Given the description of an element on the screen output the (x, y) to click on. 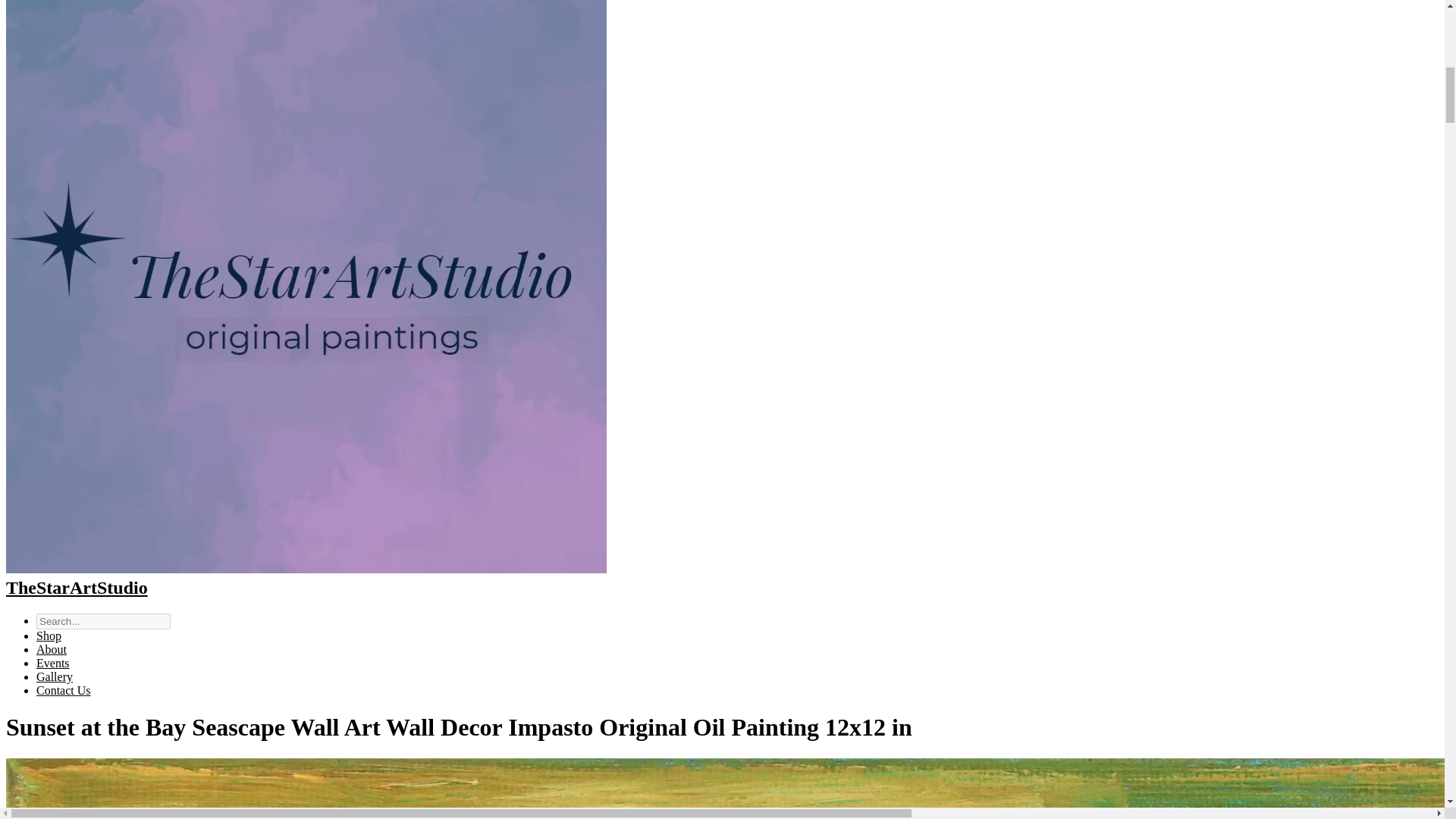
Events (52, 662)
Contact Us (63, 689)
About (51, 649)
Shop (48, 635)
Gallery (54, 676)
